Given the description of an element on the screen output the (x, y) to click on. 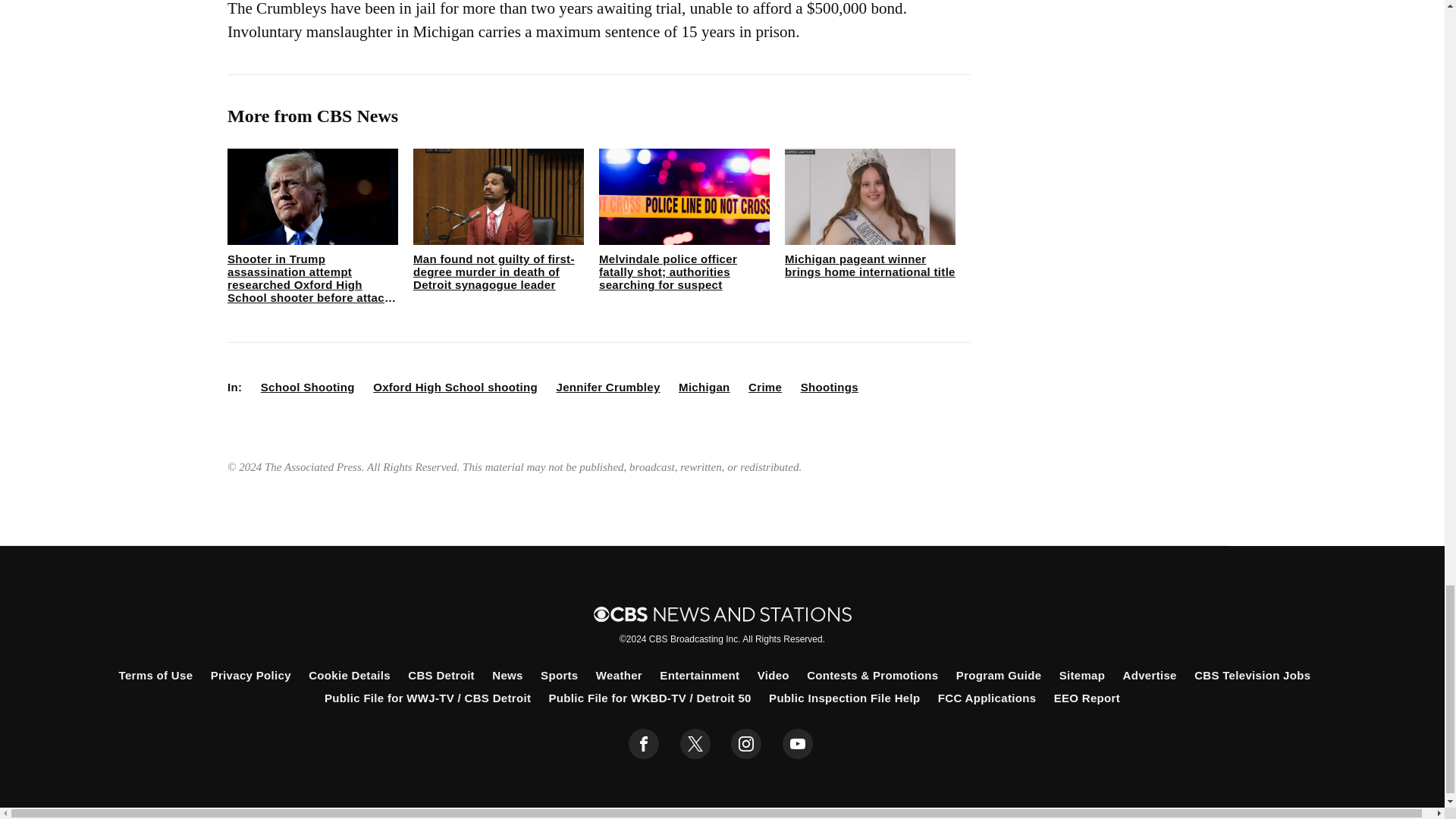
instagram (745, 743)
youtube (797, 743)
twitter (694, 743)
facebook (643, 743)
